Given the description of an element on the screen output the (x, y) to click on. 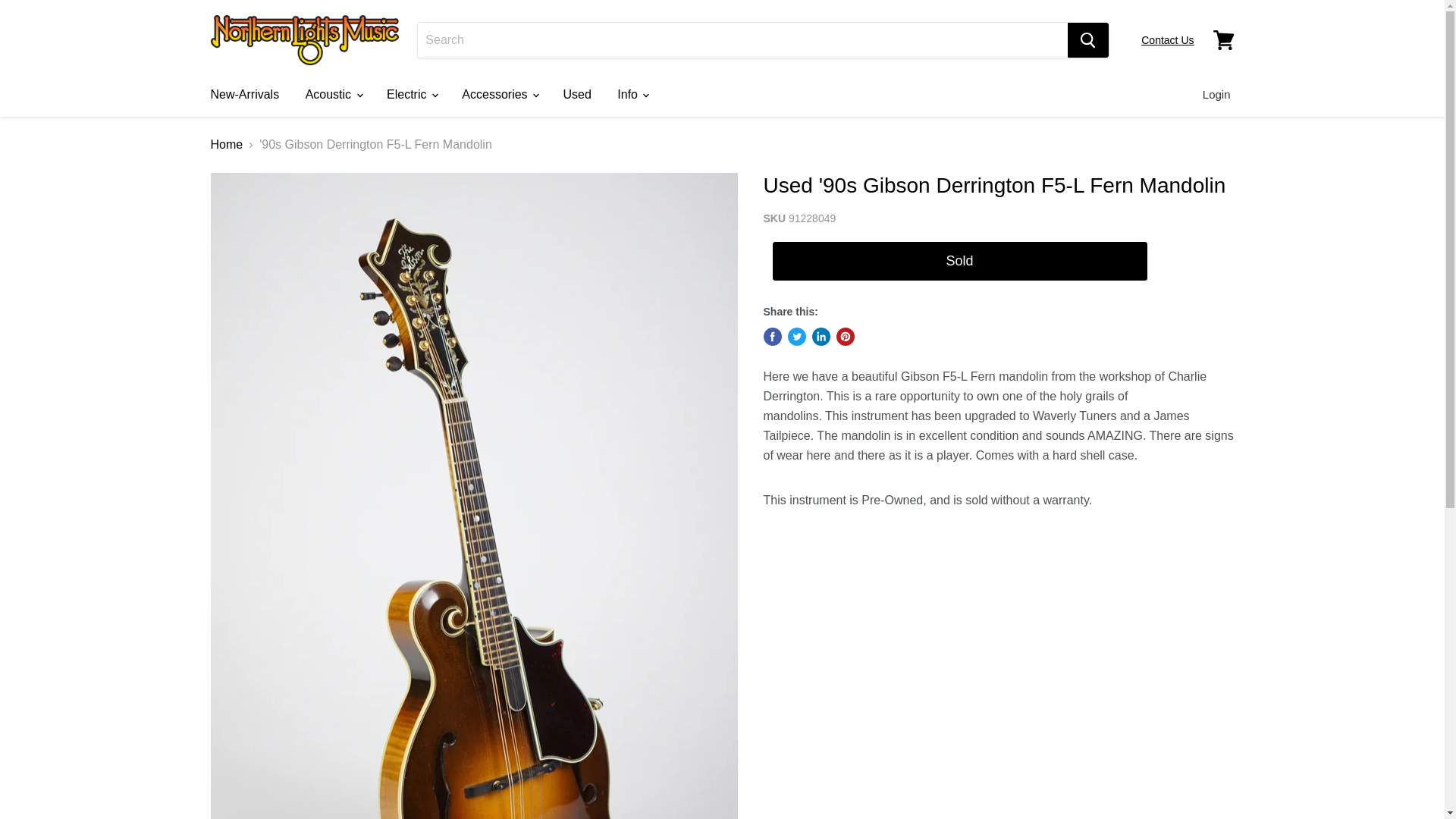
Acoustic (333, 94)
Contact Us (1167, 39)
New-Arrivals (243, 94)
Accessories (498, 94)
View cart (1223, 39)
Electric (410, 94)
